Given the description of an element on the screen output the (x, y) to click on. 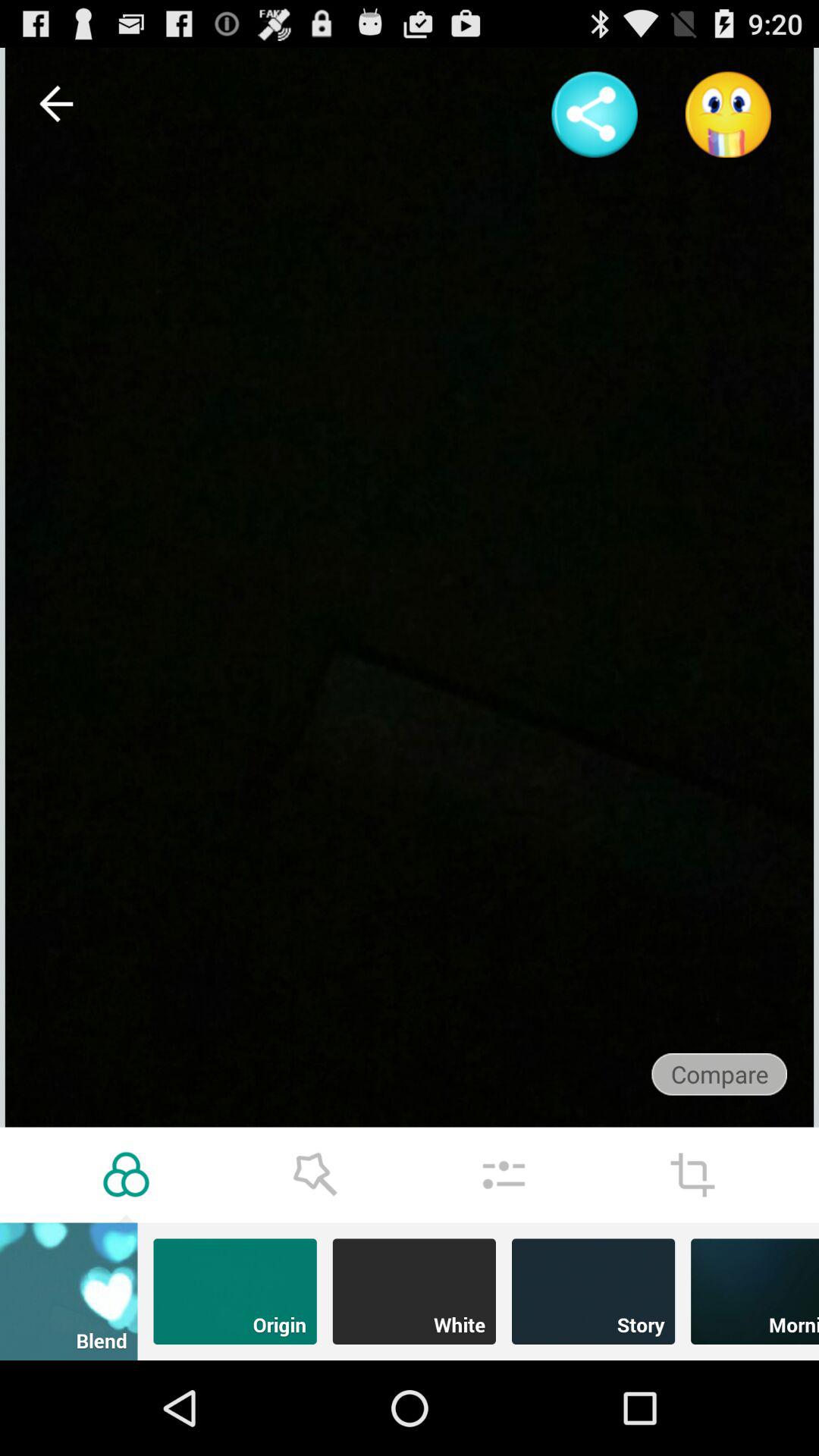
choose filter (125, 1174)
